Given the description of an element on the screen output the (x, y) to click on. 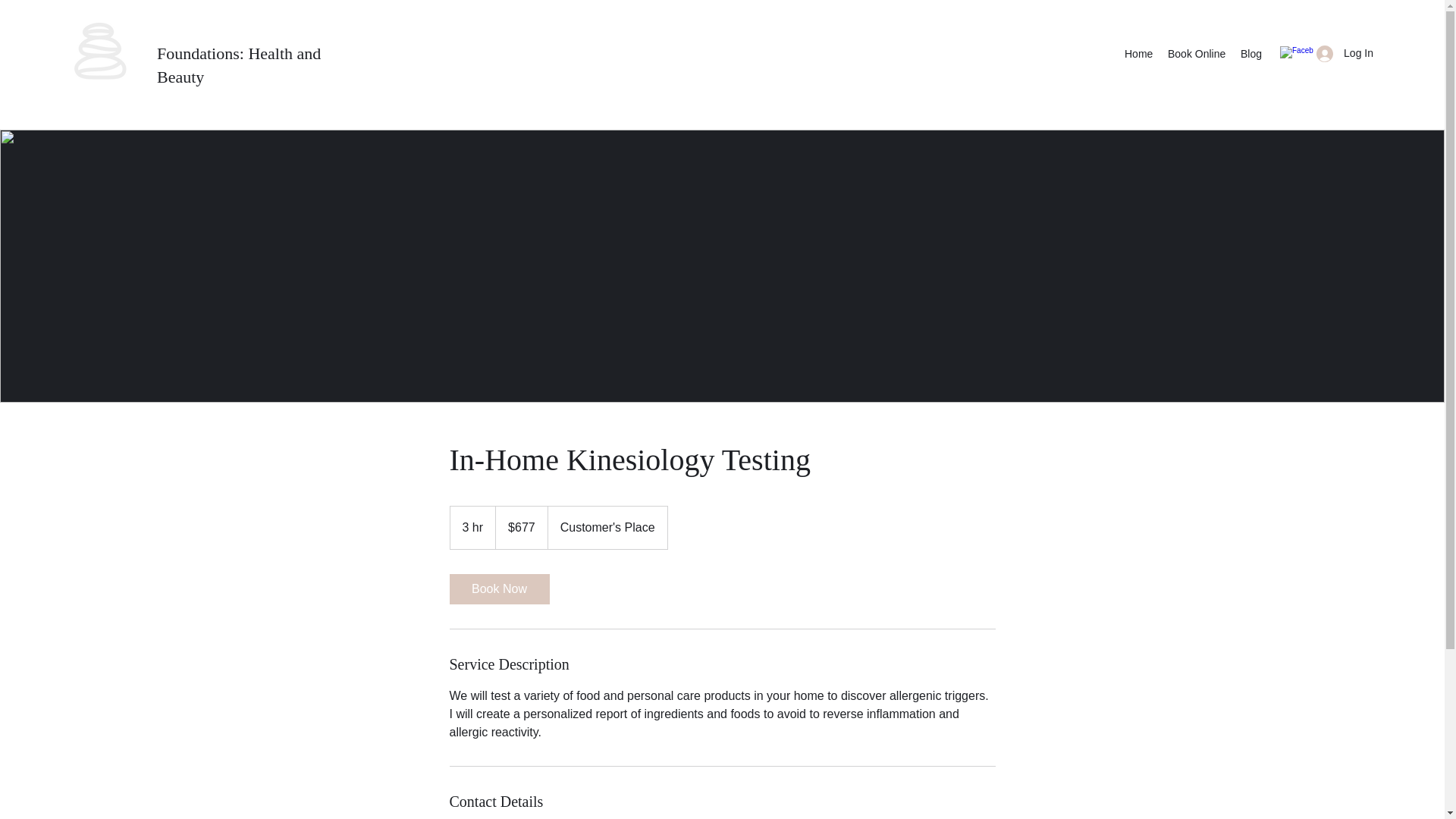
Log In (1345, 53)
Book Online (1196, 53)
Home (1138, 53)
Book Now (498, 589)
Foundations: Health and Beauty (238, 65)
Blog (1251, 53)
